Given the description of an element on the screen output the (x, y) to click on. 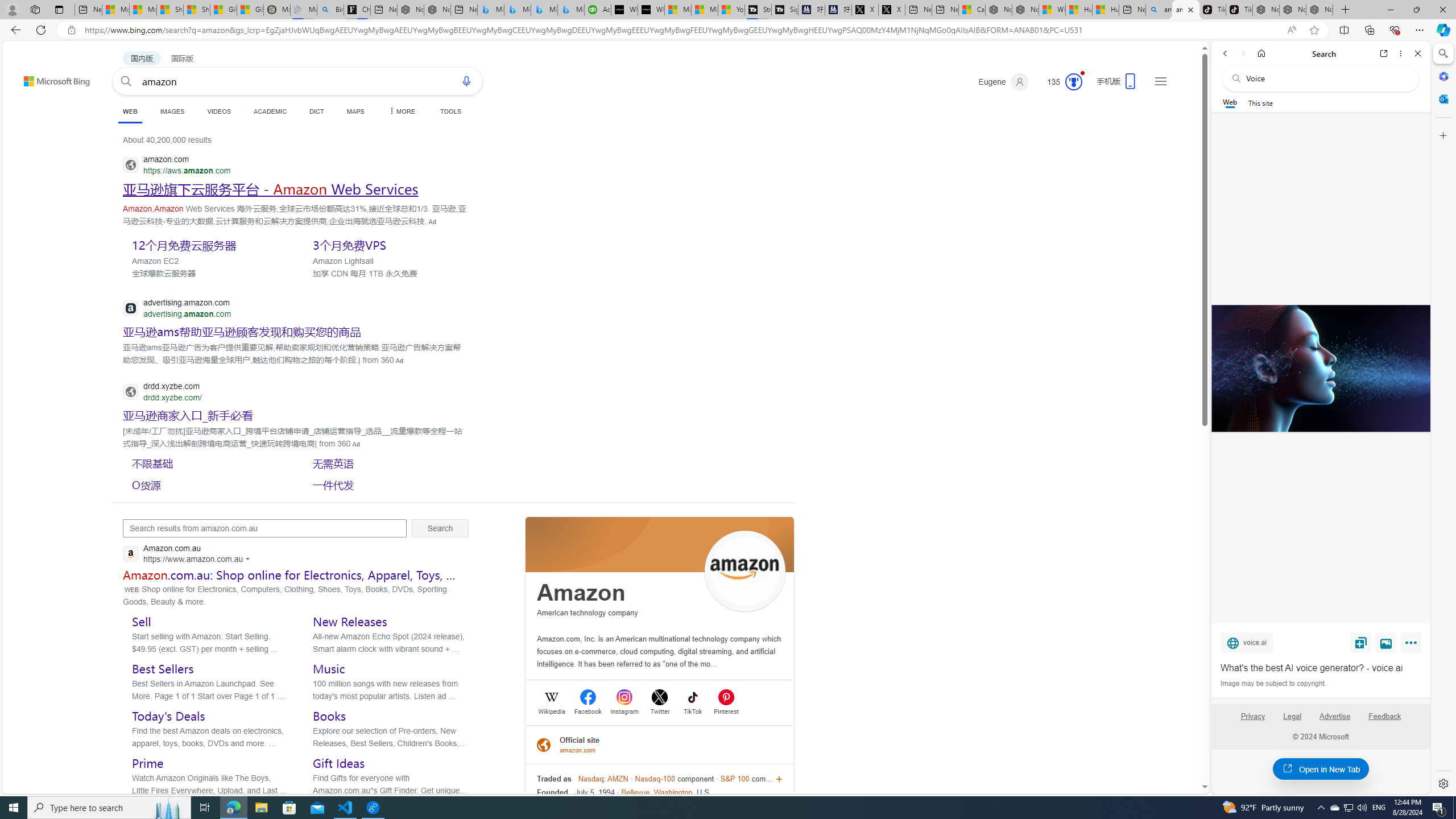
S&P 100 (734, 778)
Wikipedia (551, 710)
voice.ai (1247, 642)
WEB (129, 111)
See more images of Amazon (745, 571)
Amazon (581, 592)
Skip to content (35, 76)
SERP,5550 (207, 245)
SERP,5571 (388, 485)
